Given the description of an element on the screen output the (x, y) to click on. 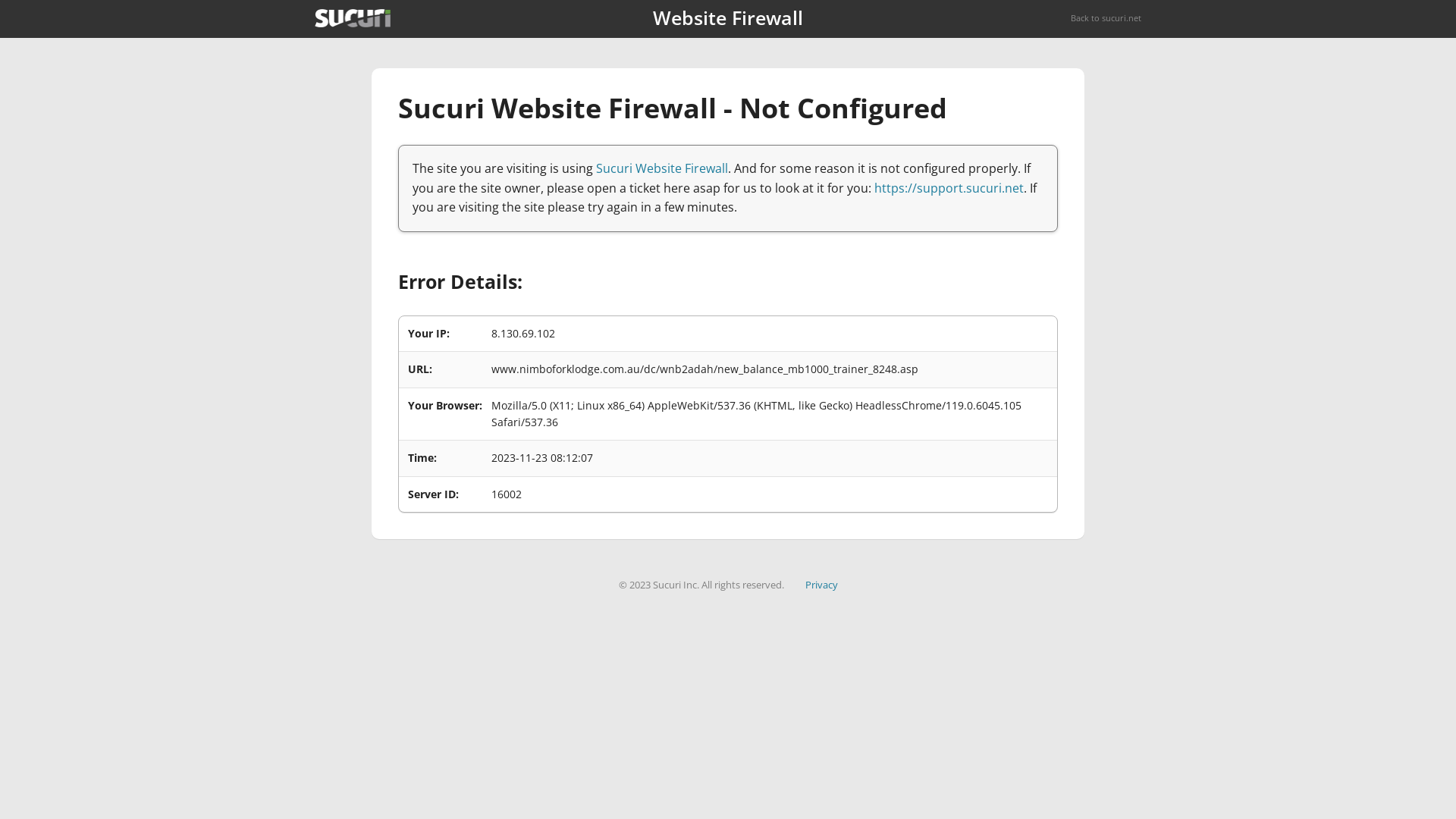
Privacy Element type: text (821, 584)
Sucuri Website Firewall Element type: text (662, 168)
https://support.sucuri.net Element type: text (948, 187)
Back to sucuri.net Element type: text (1105, 18)
